Given the description of an element on the screen output the (x, y) to click on. 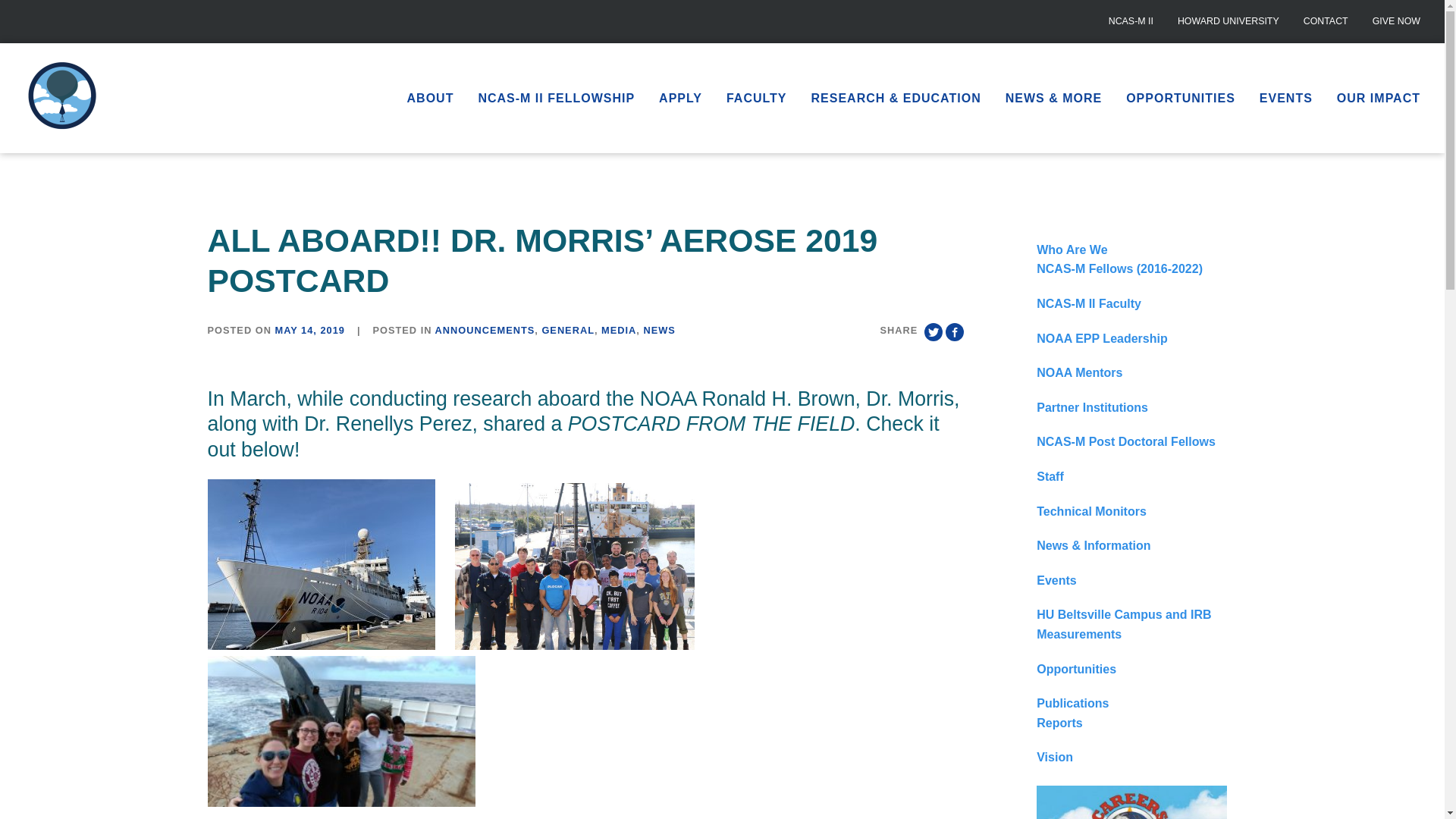
APPLY (680, 97)
NCAS-M II (1131, 21)
NCAS-M II FELLOWSHIP (555, 97)
FACULTY (756, 97)
HOWARD UNIVERSITY (1228, 21)
ABOUT (429, 97)
GIVE NOW (1395, 21)
CONTACT (1325, 21)
